Given the description of an element on the screen output the (x, y) to click on. 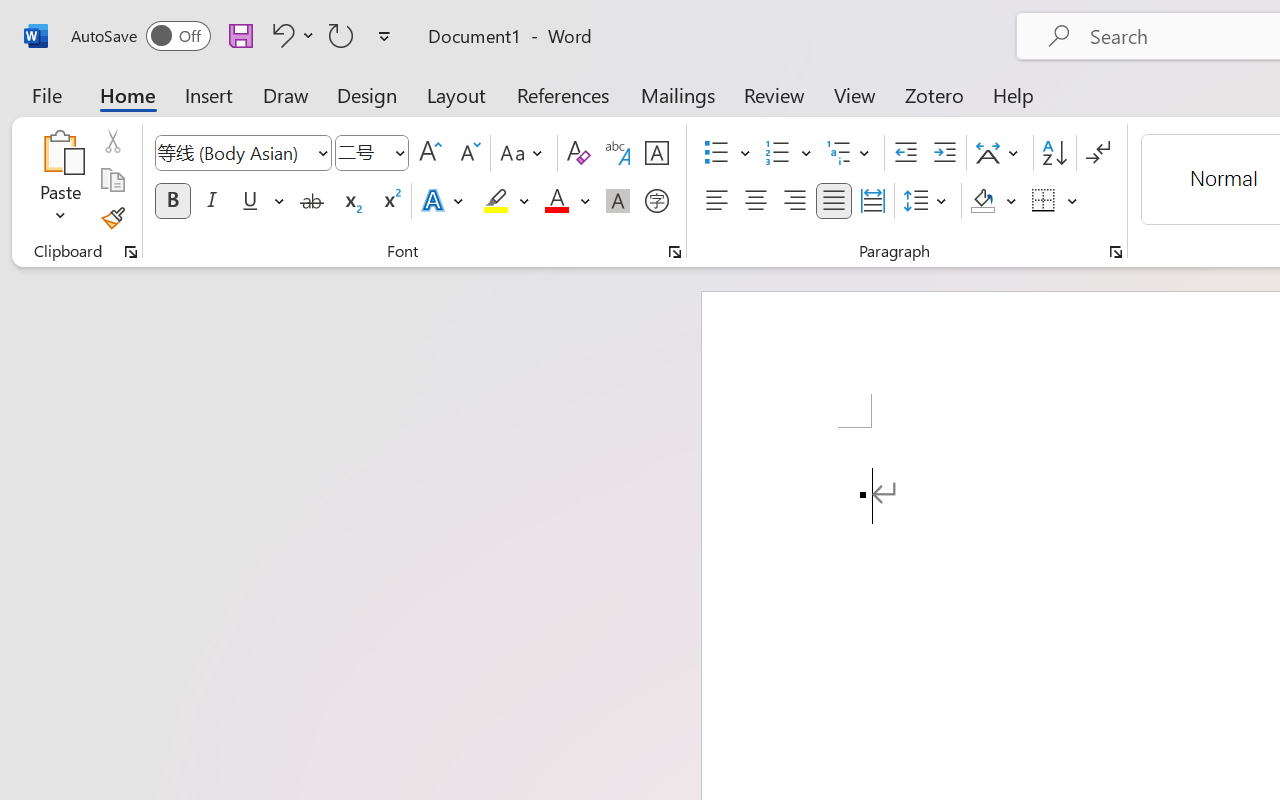
Repeat Style (341, 35)
